Given the description of an element on the screen output the (x, y) to click on. 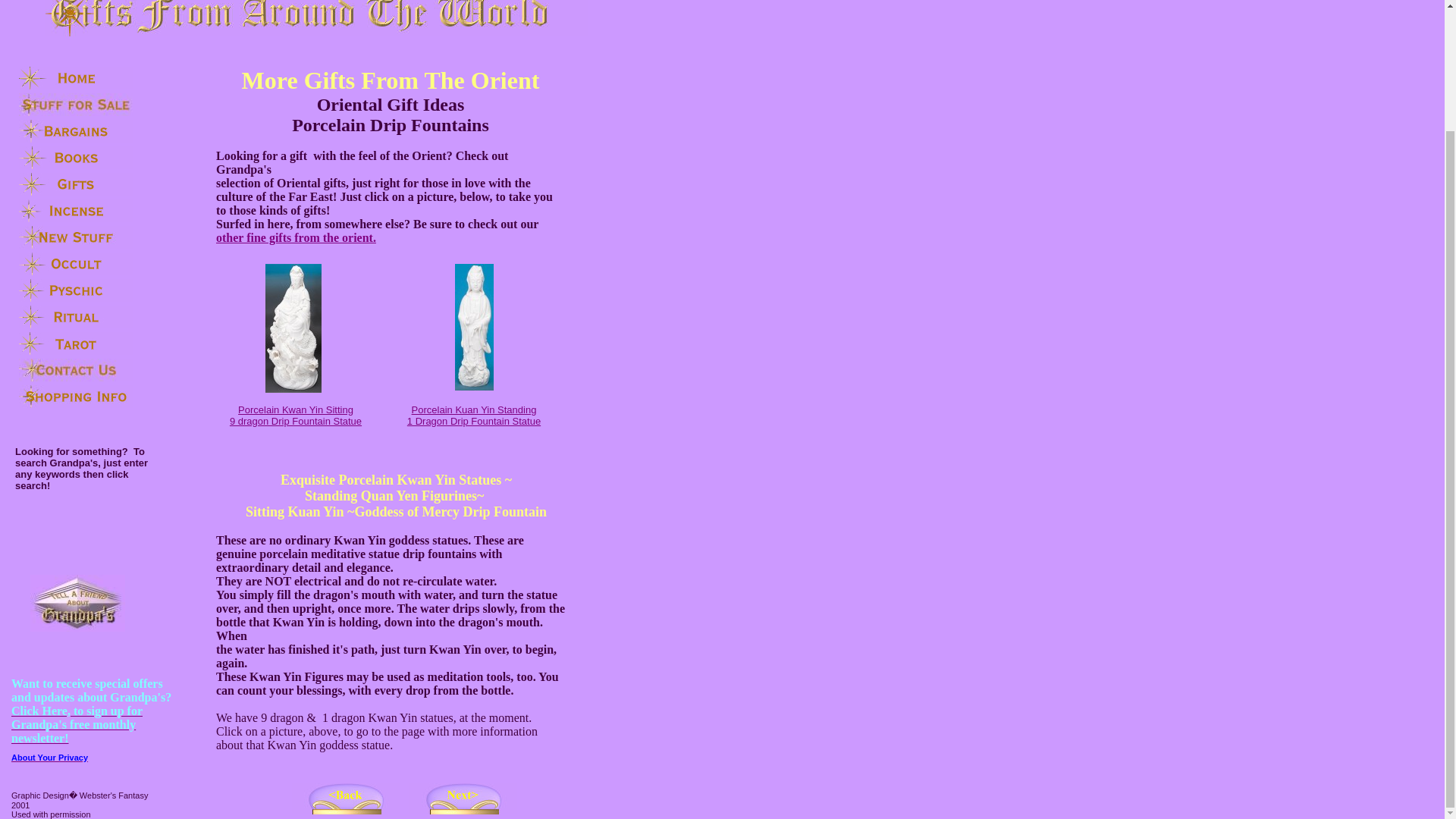
other fine gifts from the orient. (295, 237)
About Your Privacy (295, 414)
